Given the description of an element on the screen output the (x, y) to click on. 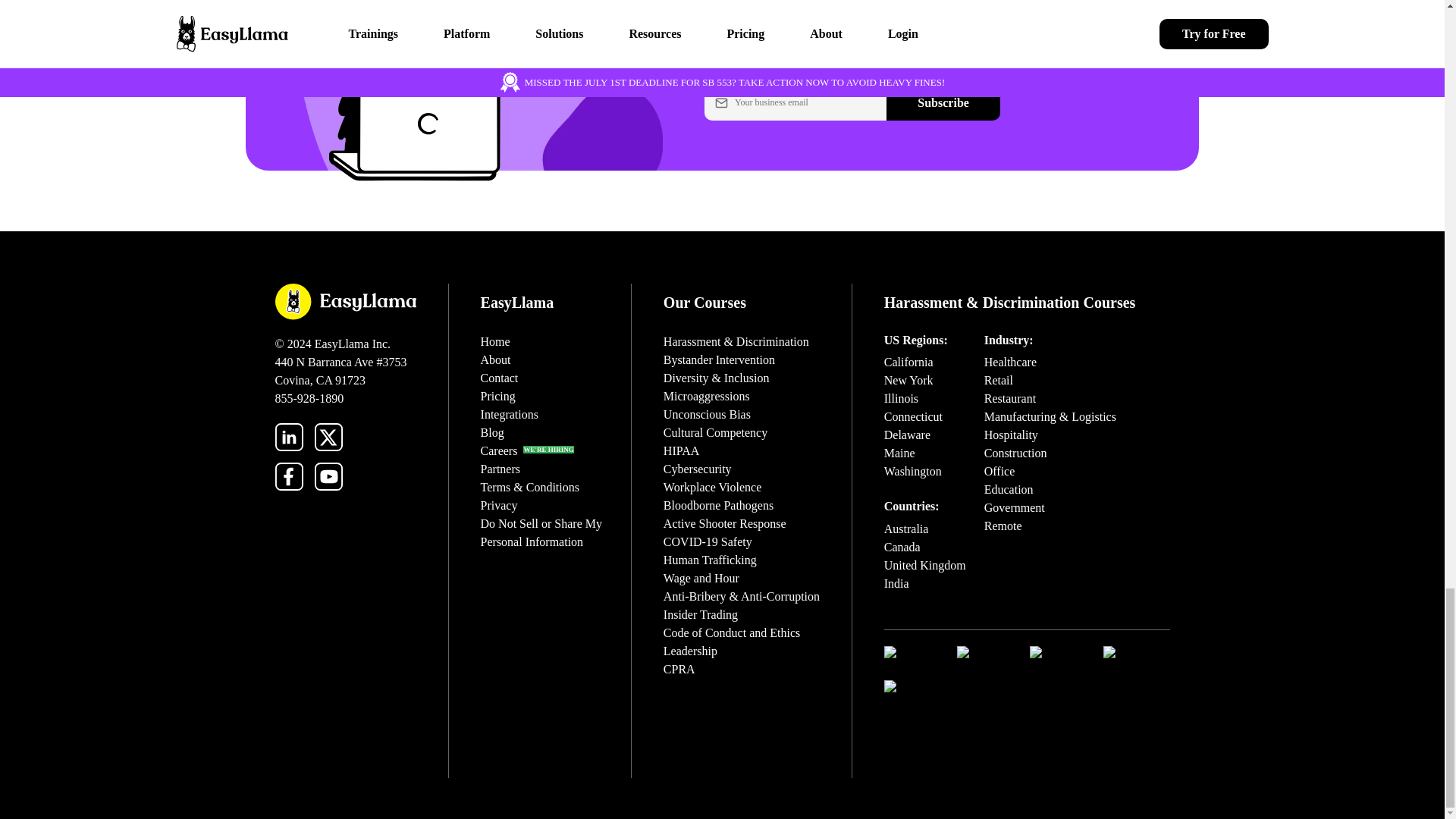
Blog (491, 431)
Bystander Intervention (718, 359)
Do Not Sell or Share My Personal Information (541, 531)
Workplace Violence (712, 486)
Partners (499, 468)
HIPAA (680, 450)
Unconscious Bias (707, 413)
Contact (499, 377)
Cultural Competency (715, 431)
Home (495, 341)
